Given the description of an element on the screen output the (x, y) to click on. 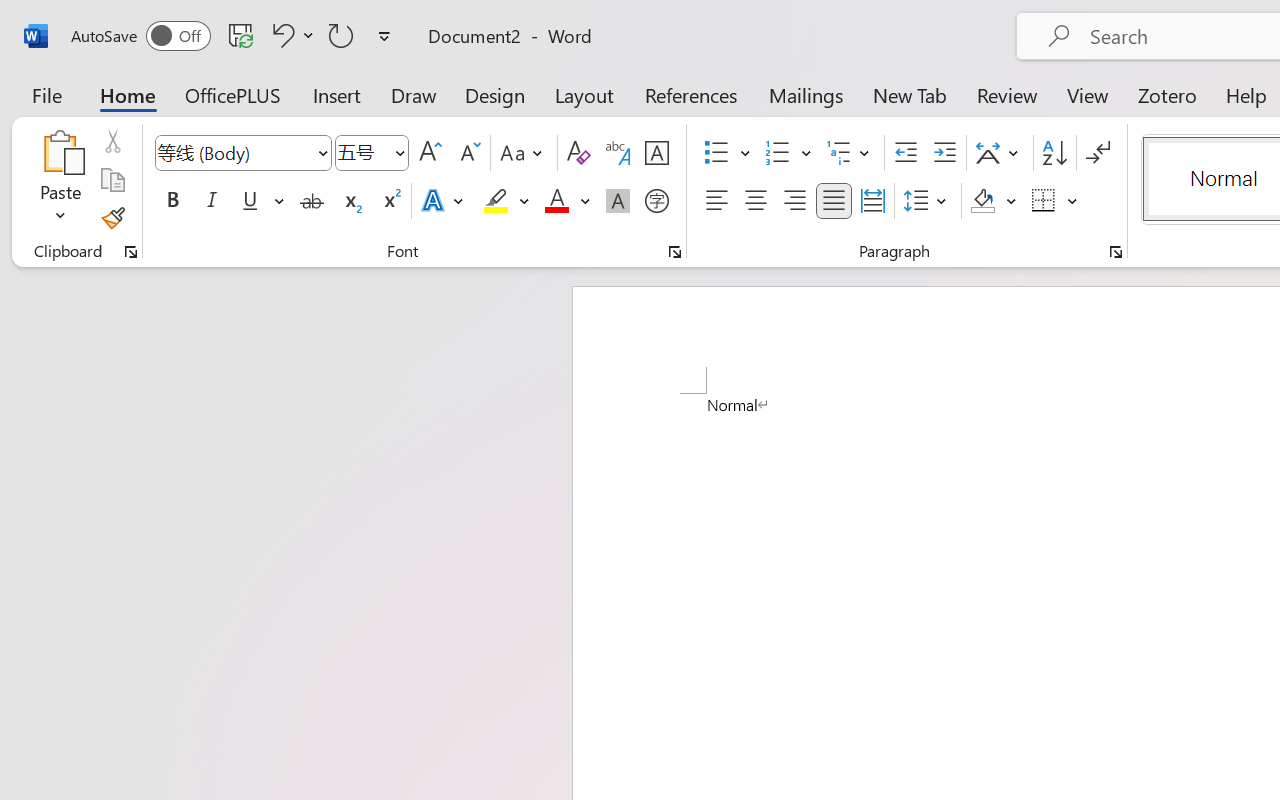
Clear Formatting (578, 153)
Subscript (350, 201)
Text Highlight Color Yellow (495, 201)
Font (234, 152)
Text Effects and Typography (444, 201)
View (1087, 94)
Character Shading (618, 201)
Zotero (1166, 94)
Quick Access Toolbar (233, 36)
Underline (250, 201)
Insert (337, 94)
Center (756, 201)
Copy (112, 179)
File Tab (46, 94)
